Given the description of an element on the screen output the (x, y) to click on. 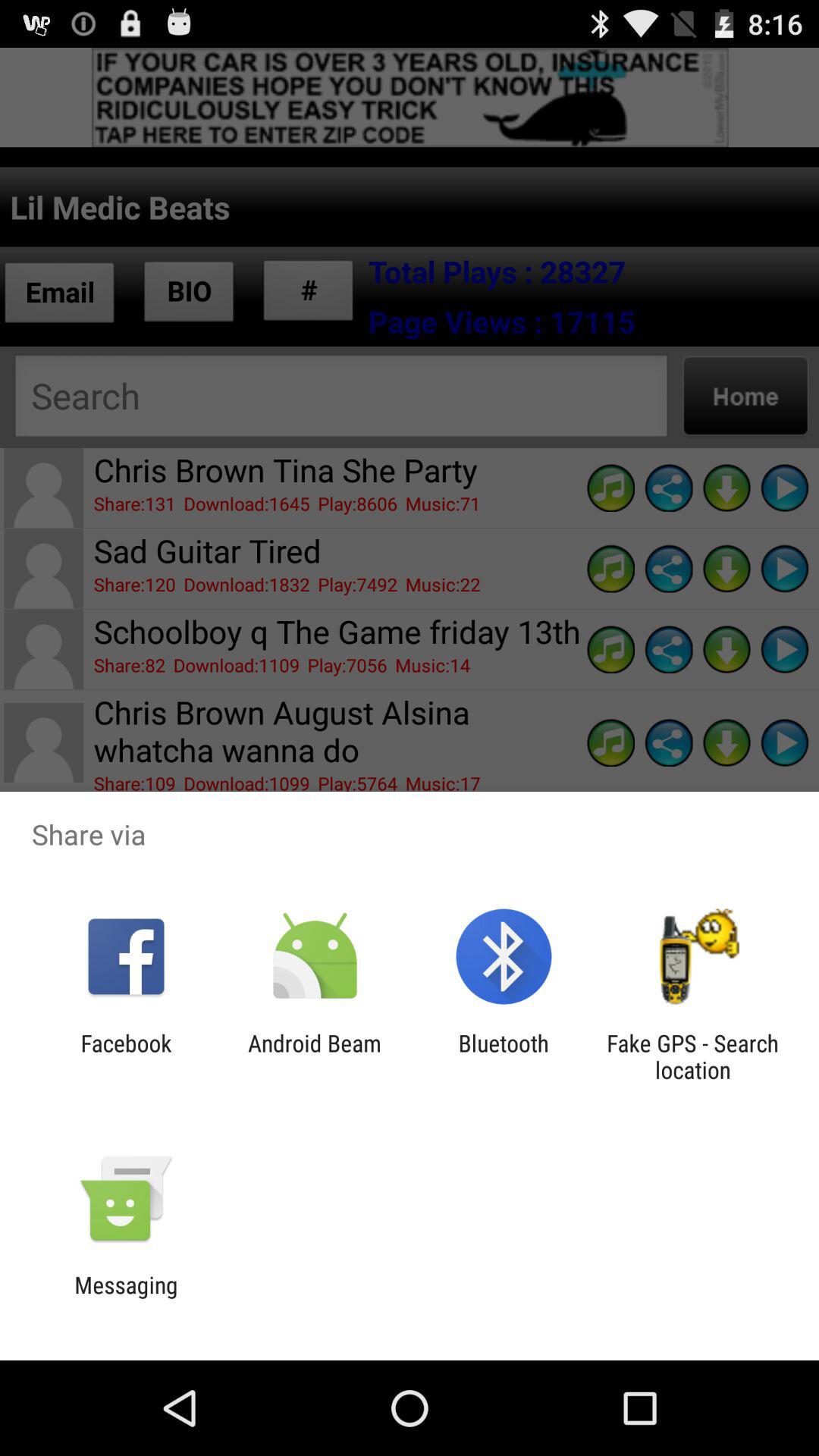
turn on item to the left of the bluetooth (314, 1056)
